Given the description of an element on the screen output the (x, y) to click on. 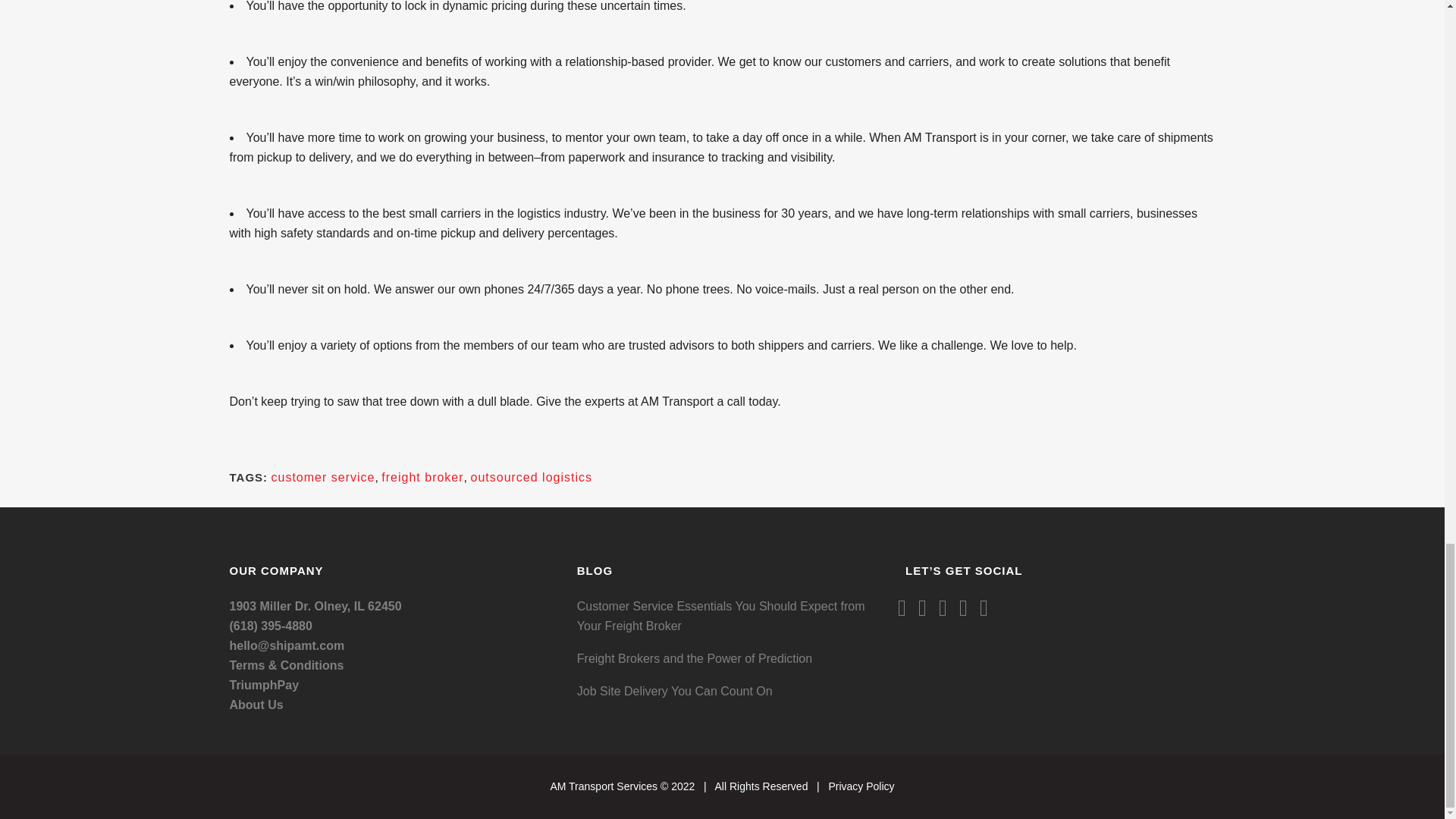
customer service (322, 477)
Freight Brokers and the Power of Prediction (729, 659)
TriumphPay (263, 684)
Privacy Policy (860, 786)
outsourced logistics (531, 477)
About Us (255, 704)
freight broker (422, 477)
Job Site Delivery You Can Count On (729, 691)
